Given the description of an element on the screen output the (x, y) to click on. 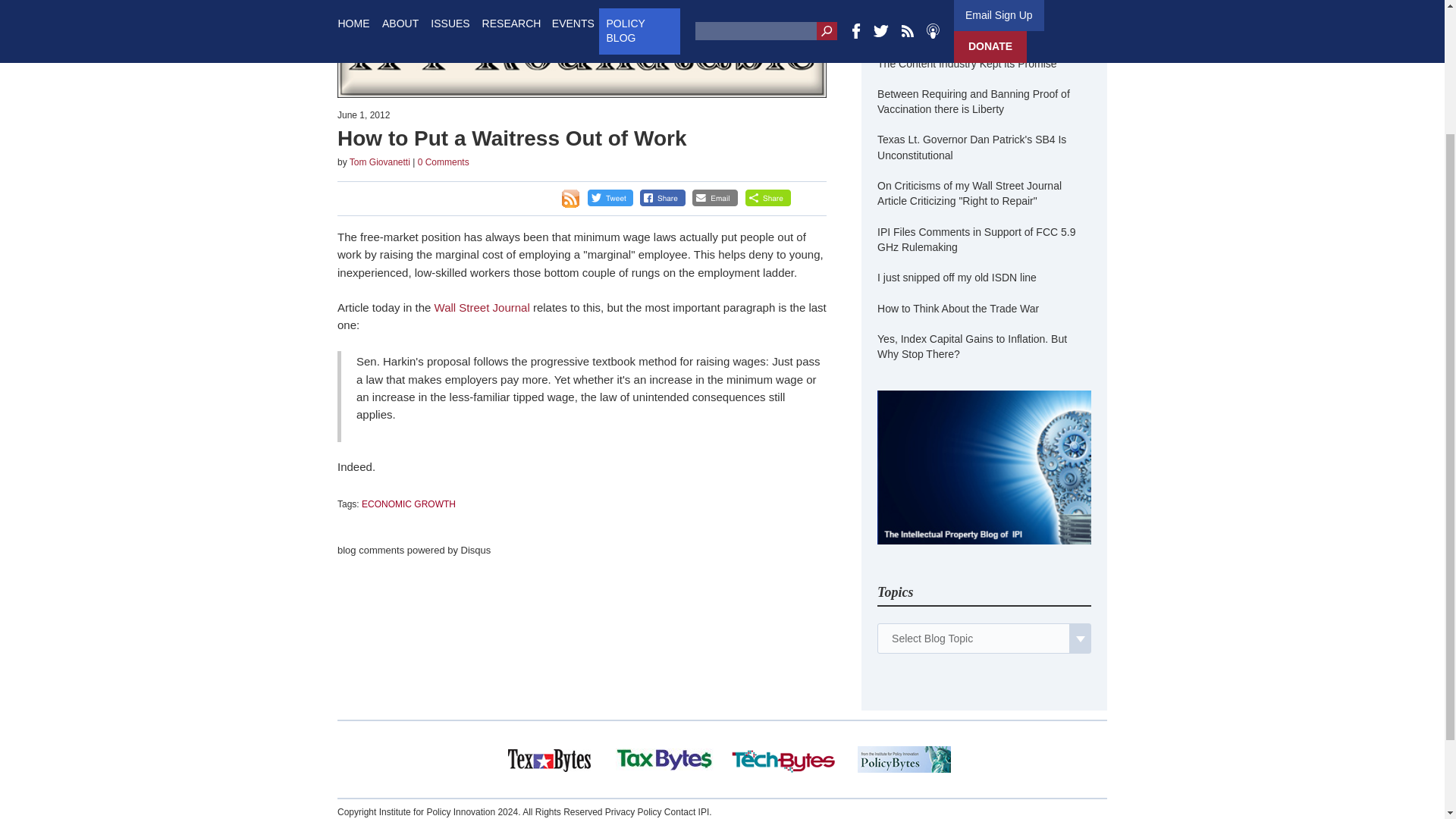
ECONOMIC GROWTH (408, 503)
blog comments powered by Disqus (413, 550)
0 Comments (442, 162)
TaxBytes-New (664, 759)
Wall Street Journal (482, 307)
Tom Giovanetti (379, 162)
